Given the description of an element on the screen output the (x, y) to click on. 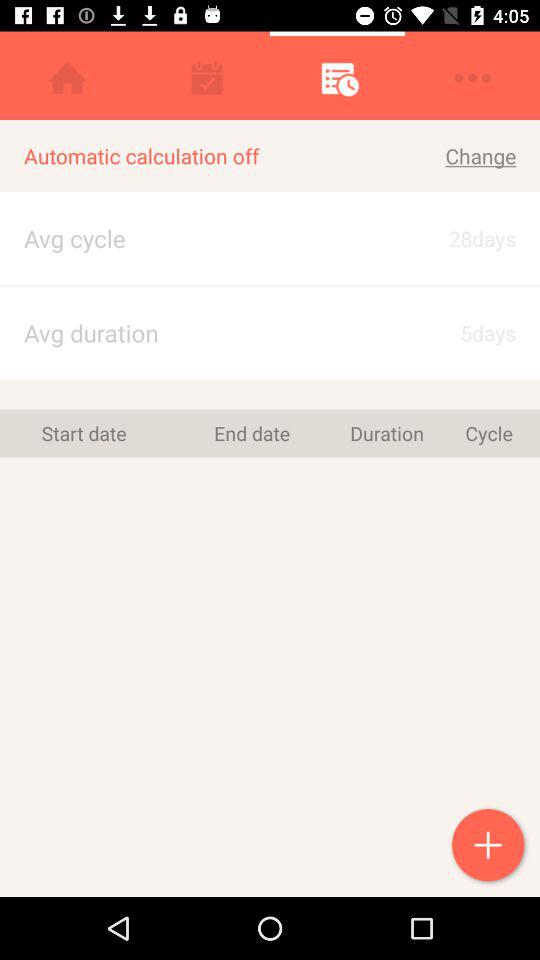
choose the icon next to the avg cycle icon (463, 332)
